Given the description of an element on the screen output the (x, y) to click on. 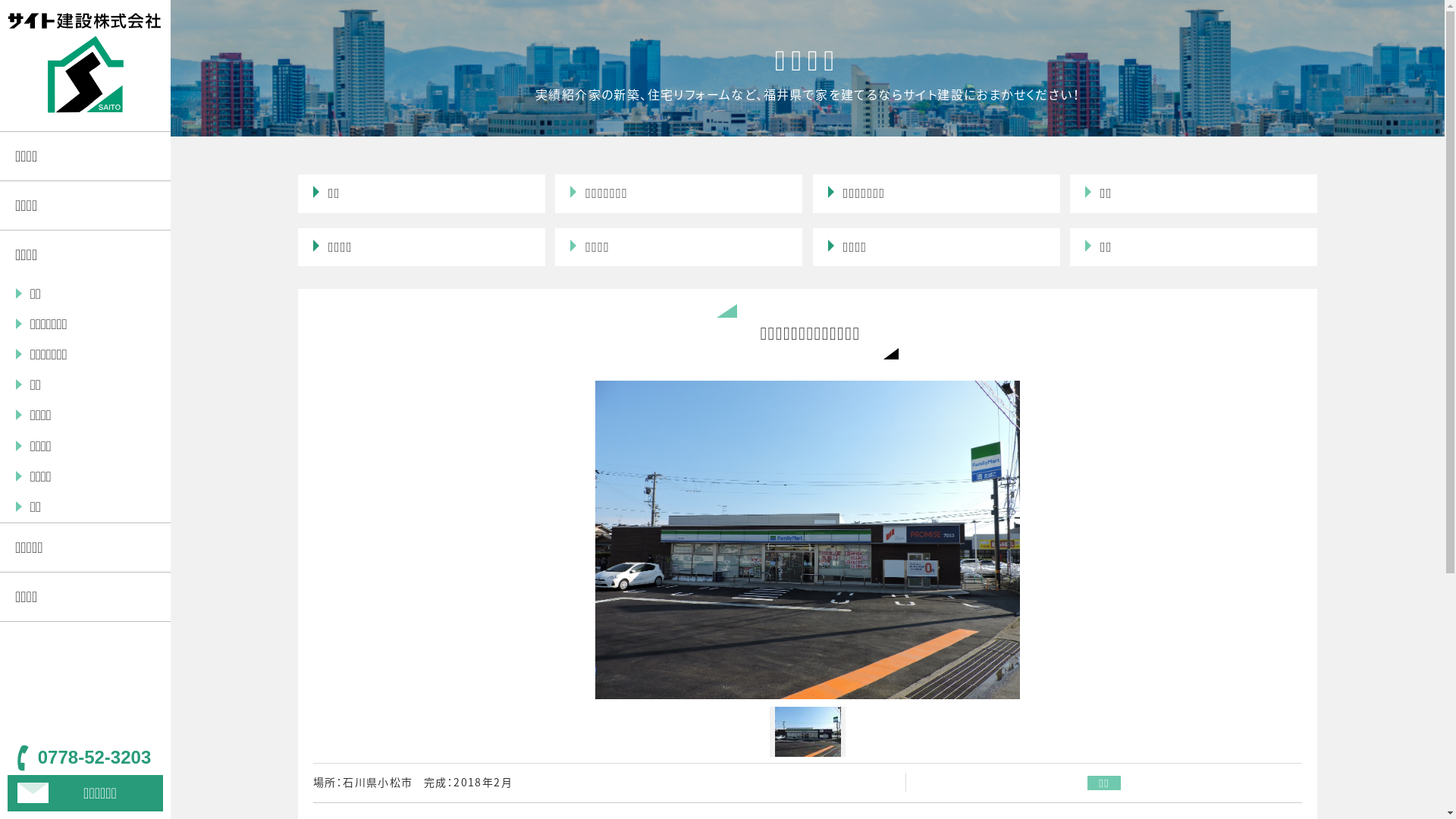
0778-52-3203 Element type: text (85, 757)
